Given the description of an element on the screen output the (x, y) to click on. 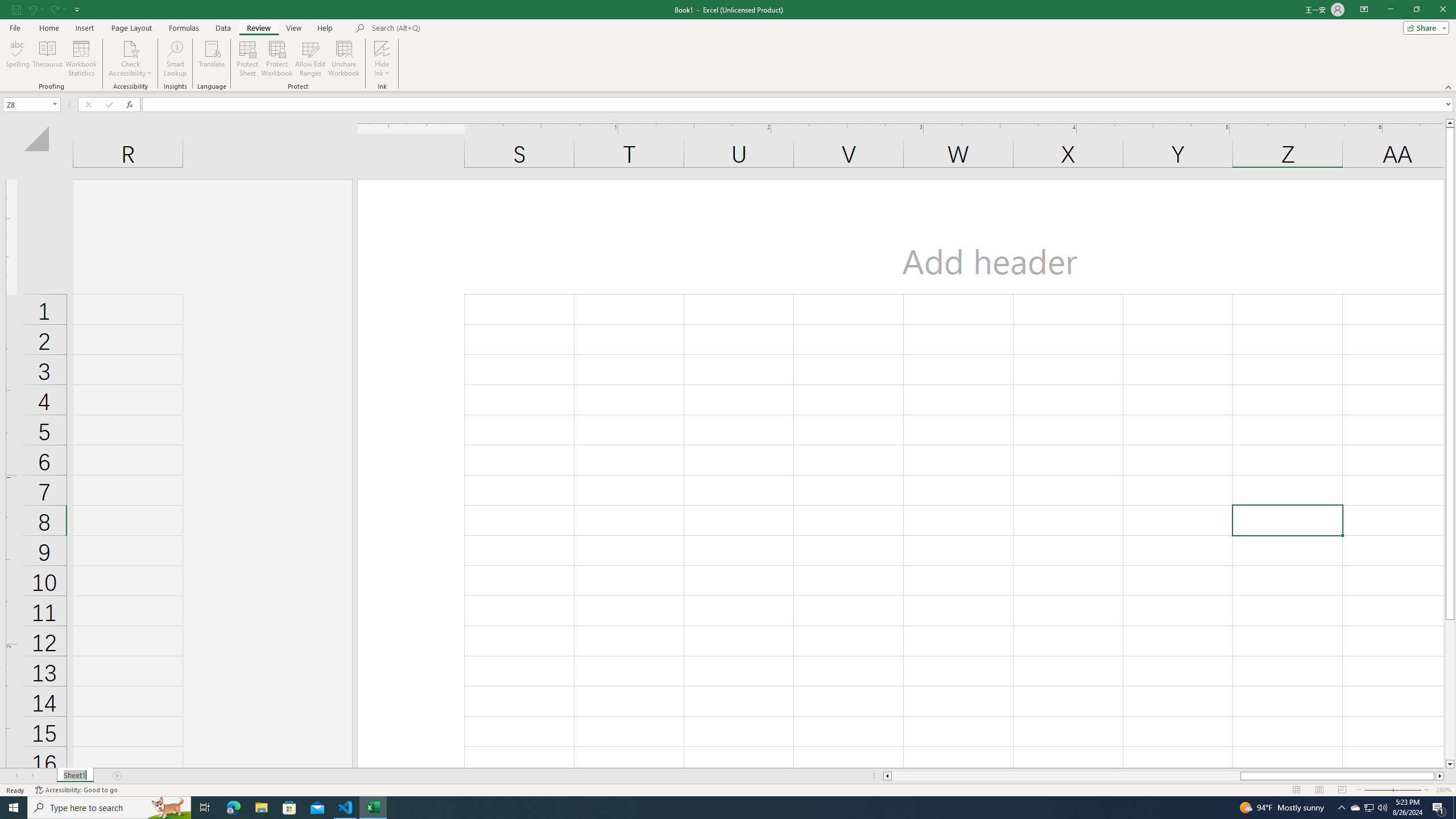
Thesaurus... (47, 58)
Protect Sheet... (247, 58)
Hide Ink (381, 58)
Unshare Workbook (344, 58)
Smart Lookup (175, 58)
